Given the description of an element on the screen output the (x, y) to click on. 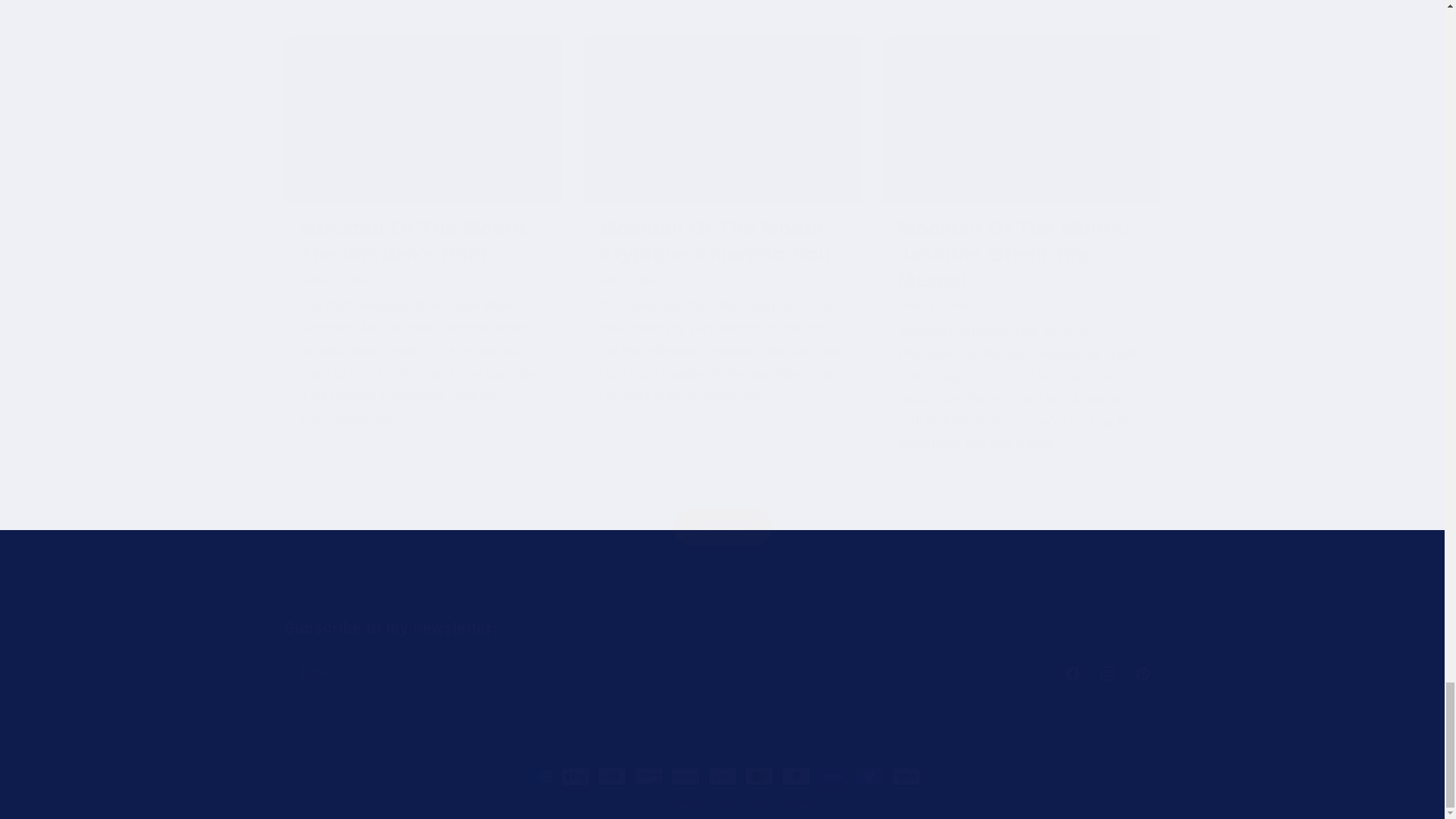
View all (721, 507)
